Given the description of an element on the screen output the (x, y) to click on. 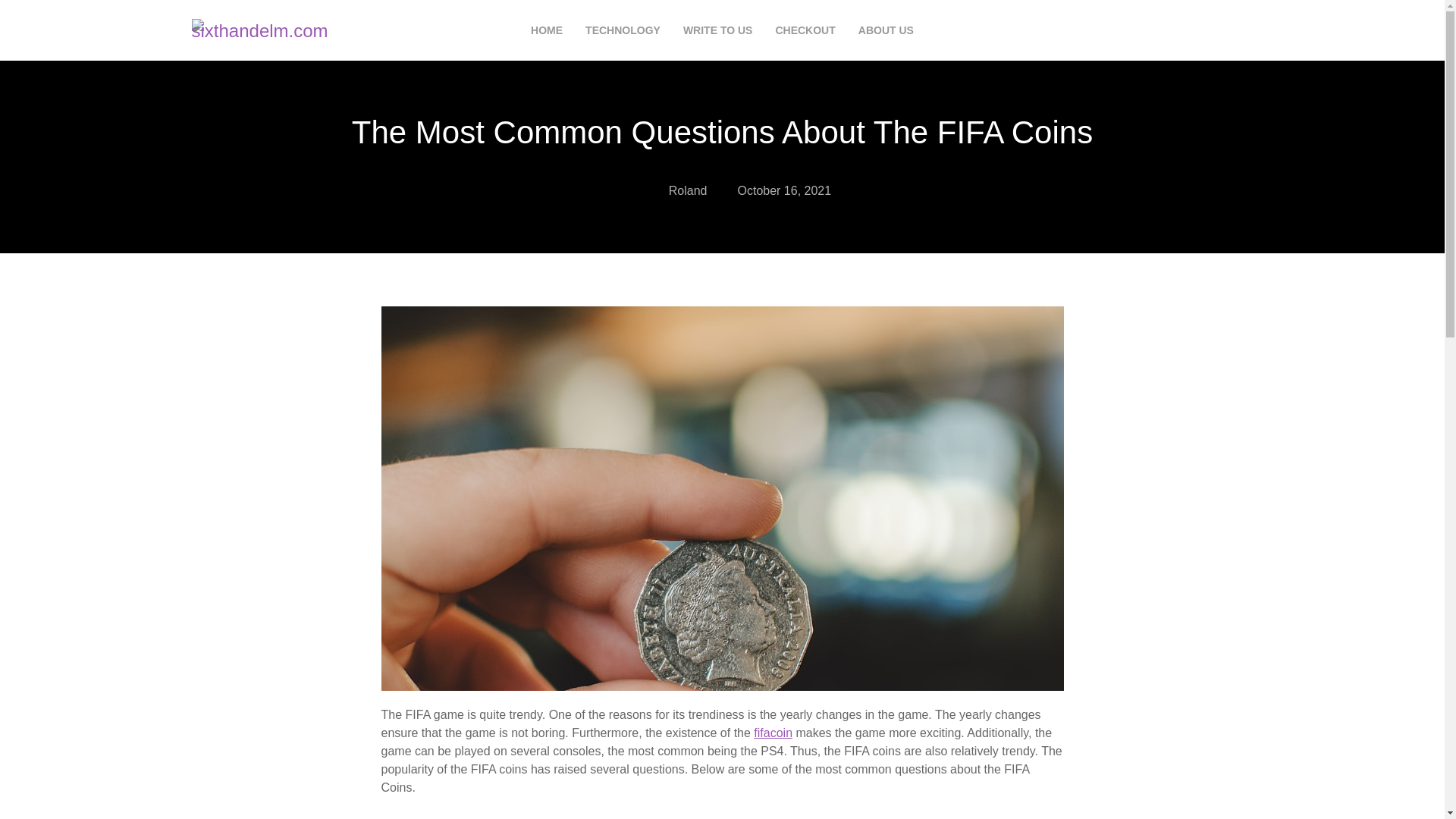
CHECKOUT (804, 30)
WRITE TO US (717, 30)
TECHNOLOGY (623, 30)
ABOUT US (886, 30)
fifacoin (773, 732)
